Given the description of an element on the screen output the (x, y) to click on. 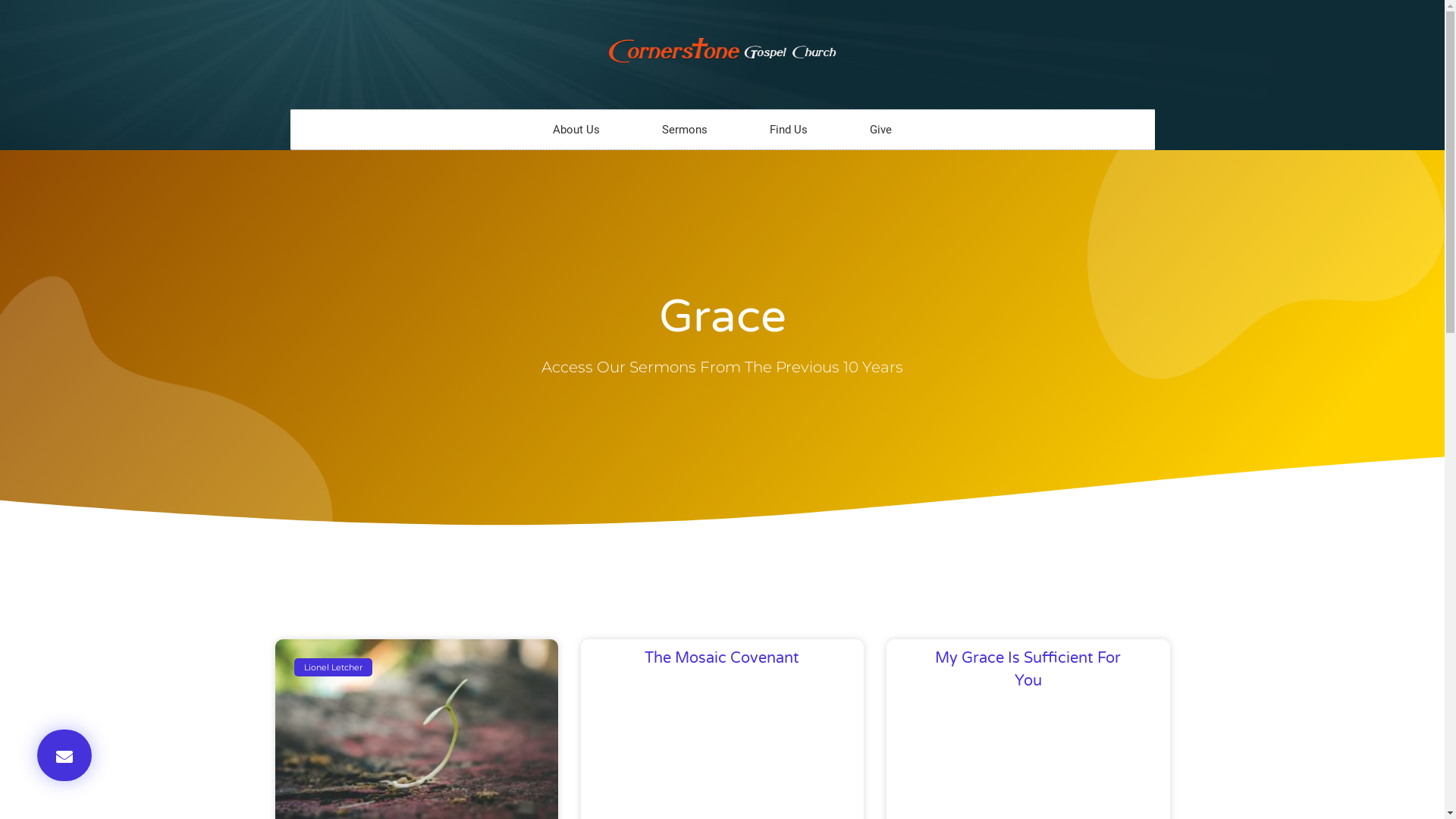
About Us Element type: text (575, 129)
Give Element type: text (880, 129)
Sermons Element type: text (684, 129)
My Grace Is Sufficient For You Element type: text (1027, 669)
The Mosaic Covenant Element type: text (721, 658)
Find Us Element type: text (788, 129)
